Given the description of an element on the screen output the (x, y) to click on. 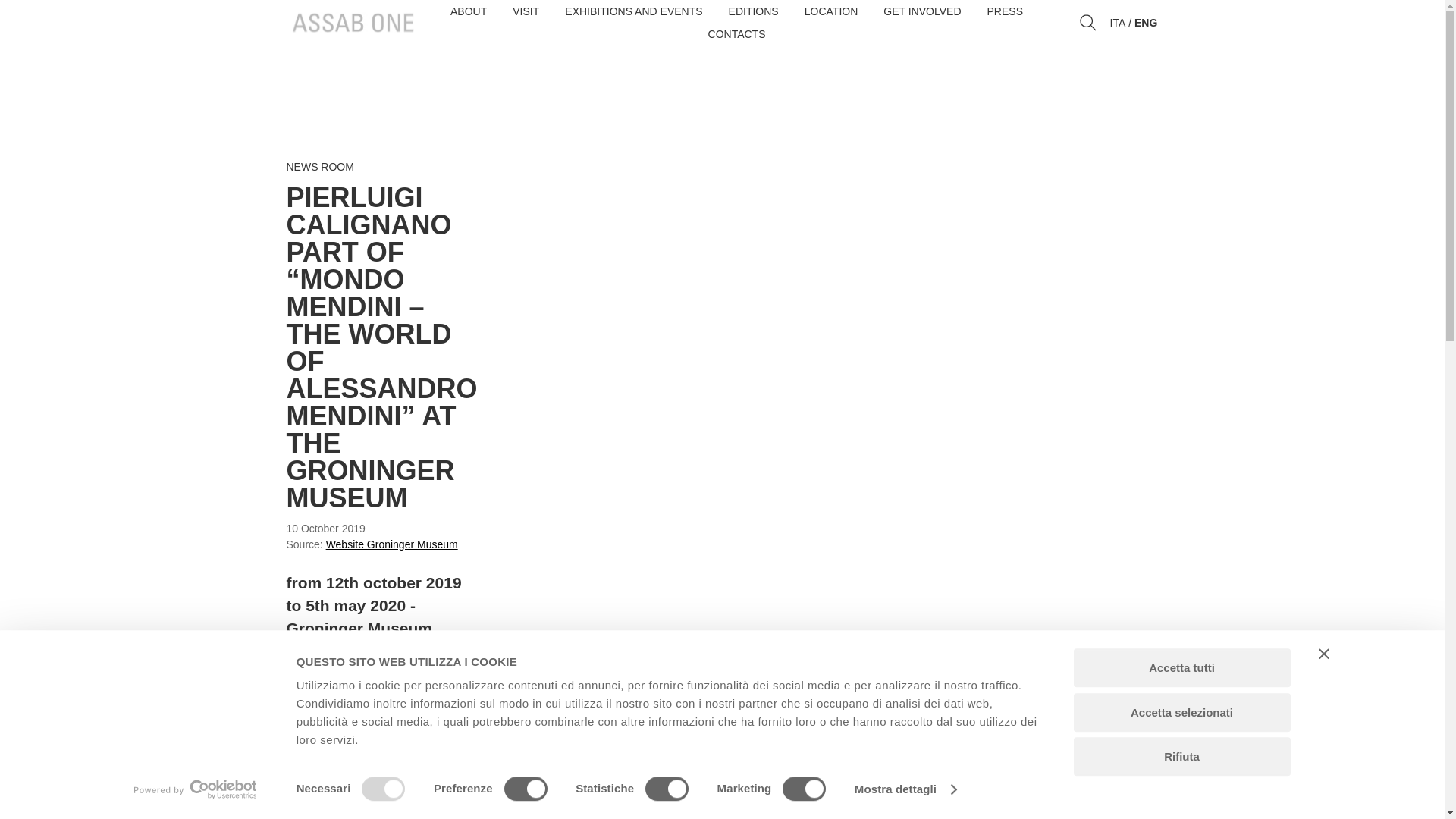
homepage - Assab One (352, 22)
Accetta tutti (1182, 667)
1. Alessandro Mendini (612, 744)
Rifiuta (1182, 756)
Mostra dettagli (905, 789)
Accetta selezionati (1182, 712)
